Given the description of an element on the screen output the (x, y) to click on. 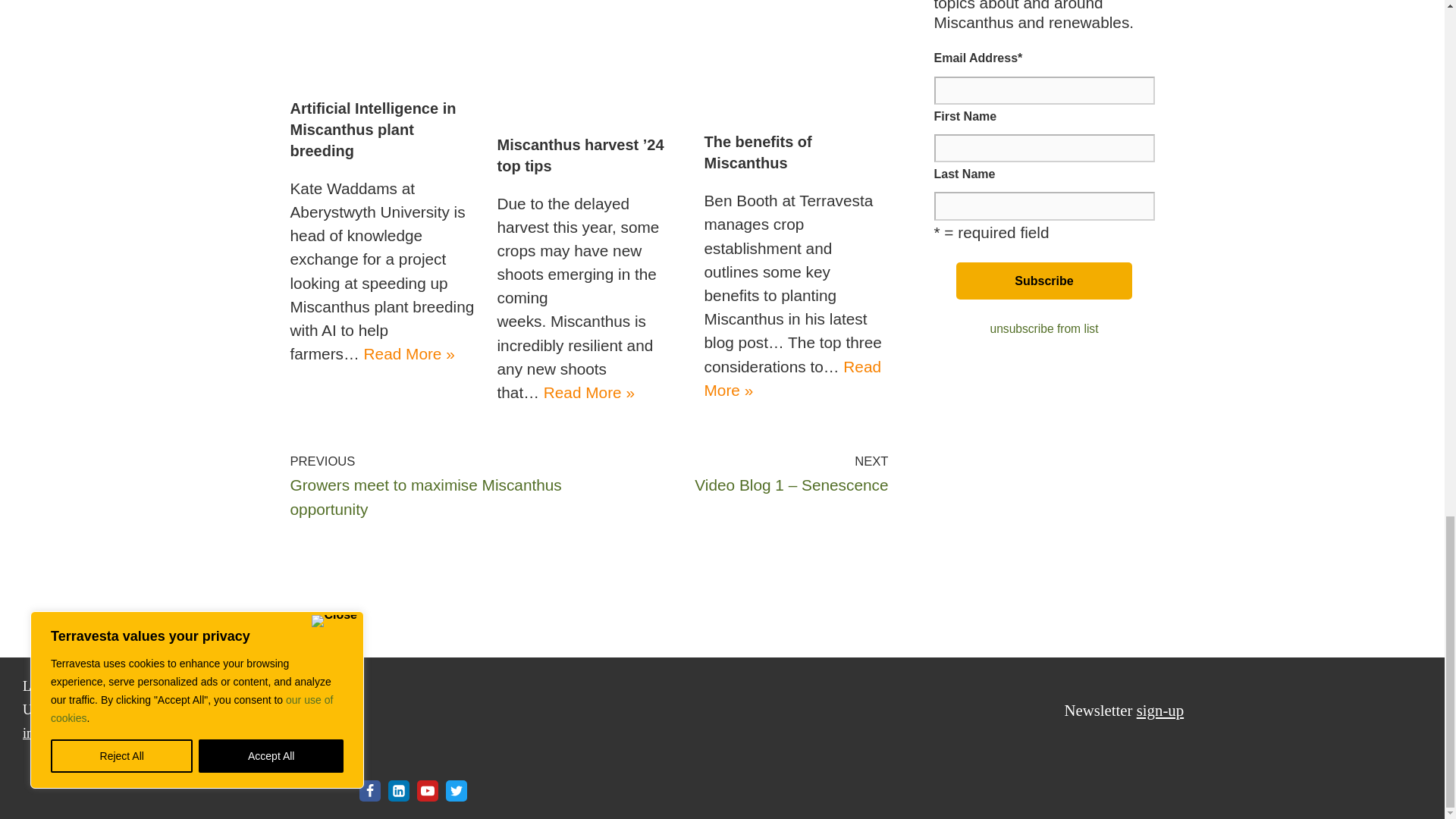
Facebook (369, 790)
Youtube (427, 790)
Subscribe (1044, 281)
LinkedIn (398, 790)
